Given the description of an element on the screen output the (x, y) to click on. 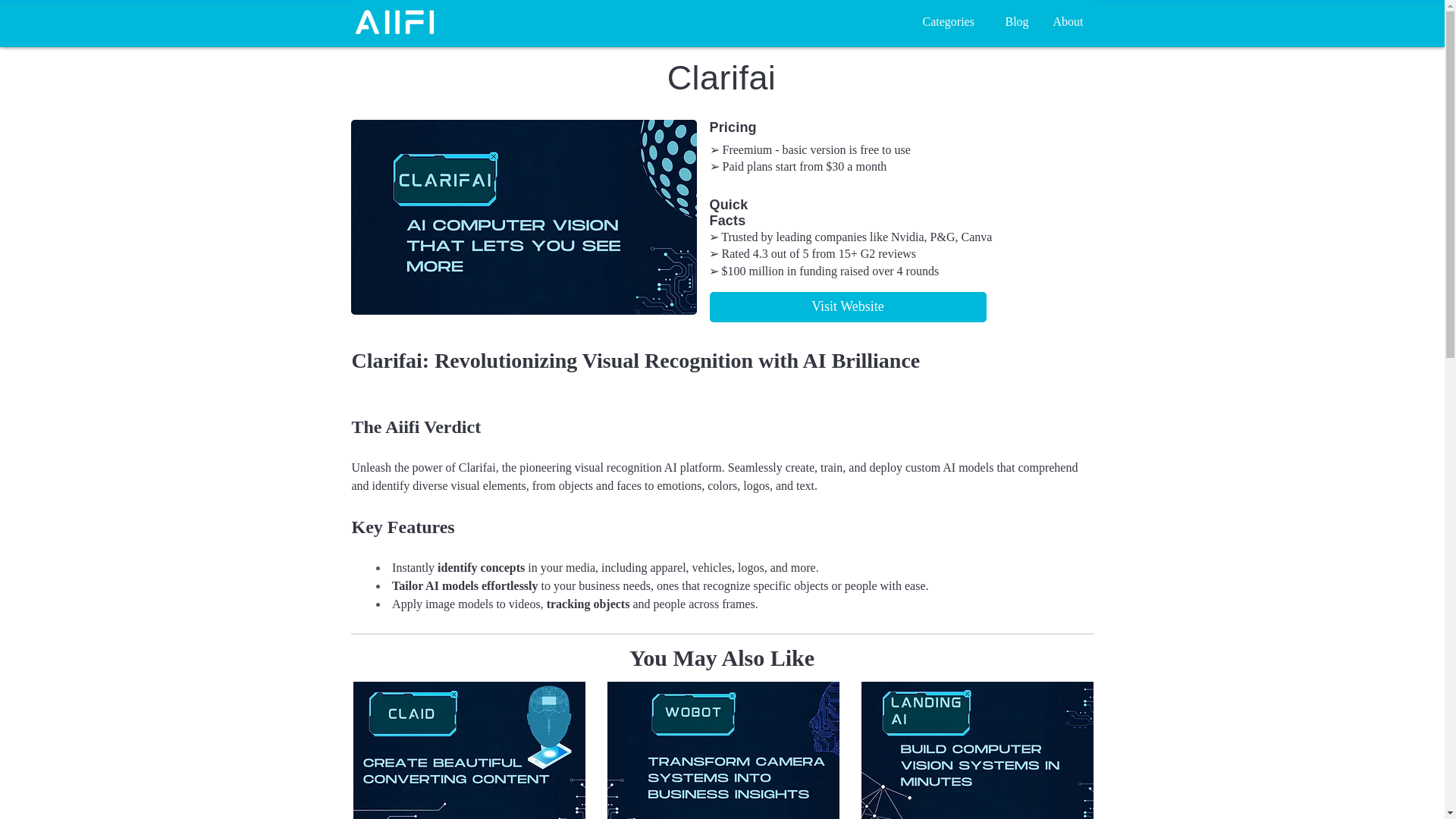
Blog (1016, 21)
About (1070, 21)
Categories (952, 21)
Visit Website (848, 306)
Clarifai (720, 77)
